Given the description of an element on the screen output the (x, y) to click on. 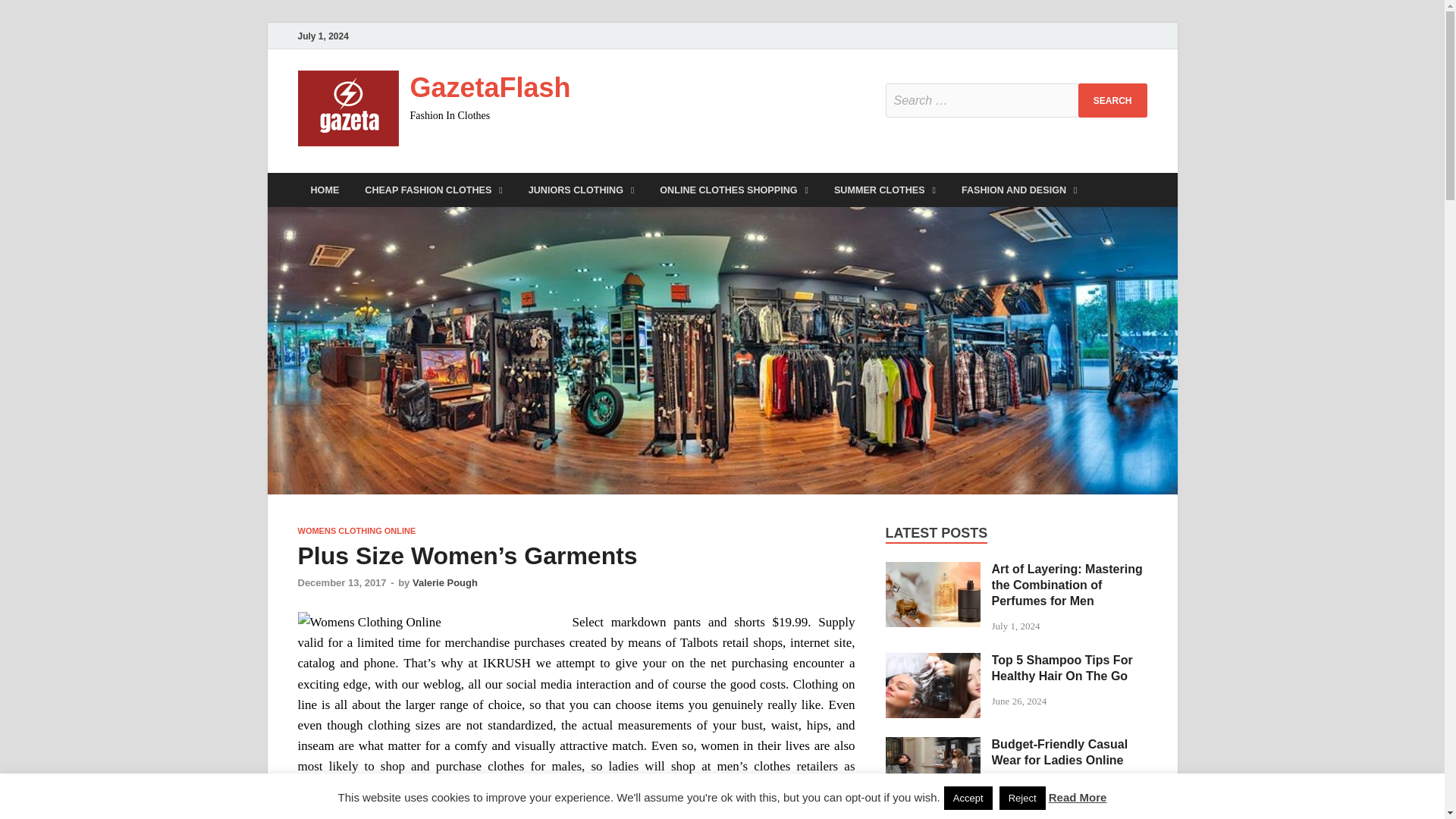
CHEAP FASHION CLOTHES (433, 189)
Search (1112, 100)
Search (1112, 100)
Budget-Friendly Casual Wear for Ladies Online (932, 745)
JUNIORS CLOTHING (581, 189)
FASHION AND DESIGN (1019, 189)
HOME (324, 189)
Top 5 Shampoo Tips For Healthy Hair On The Go (932, 661)
ONLINE CLOTHES SHOPPING (733, 189)
Search (1112, 100)
SUMMER CLOTHES (885, 189)
GazetaFlash (489, 87)
